Given the description of an element on the screen output the (x, y) to click on. 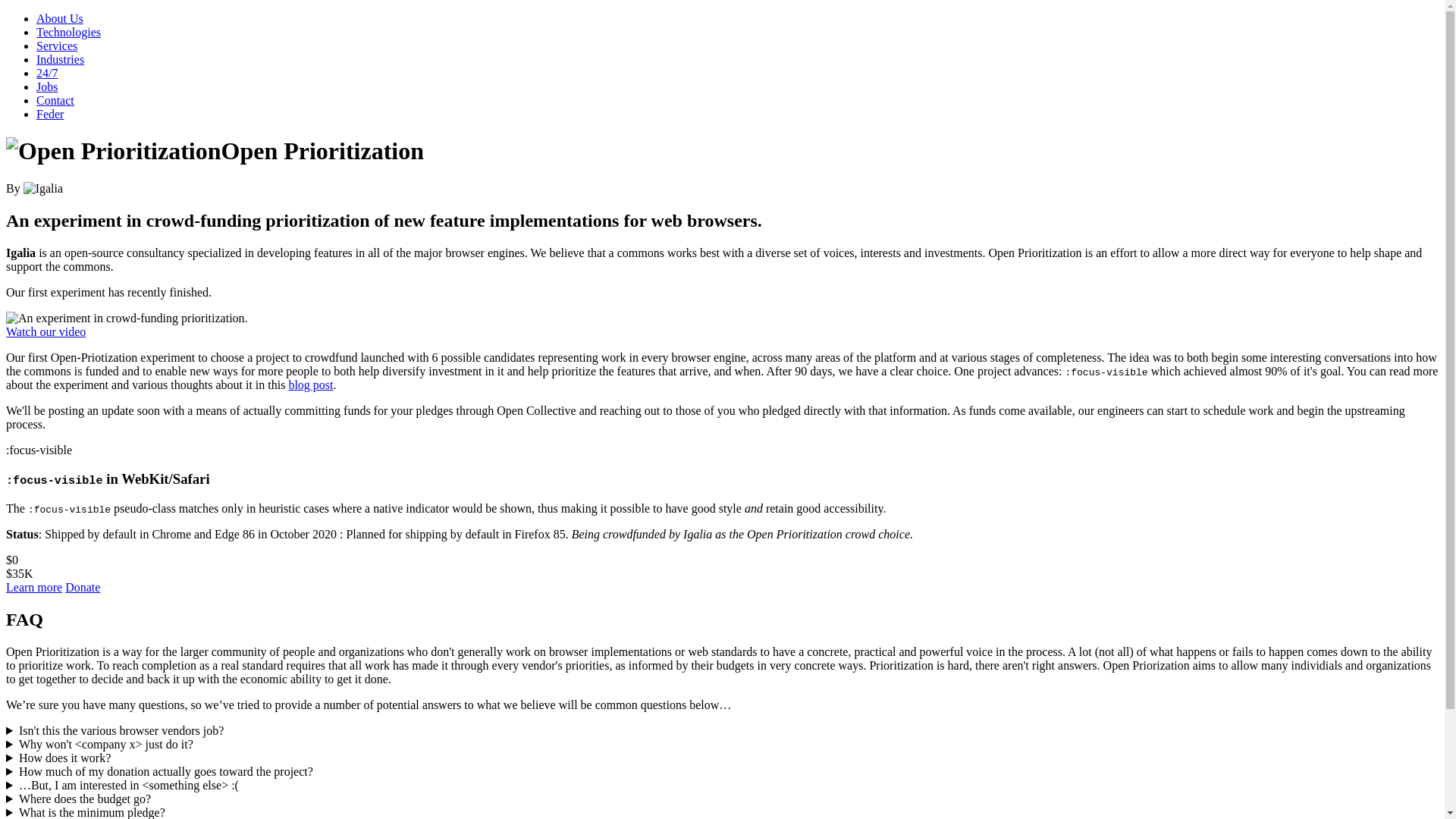
blog post (310, 384)
Industries (60, 59)
About Us (59, 18)
Technologies (68, 31)
Jobs (47, 86)
Donate (82, 586)
Industries (60, 59)
Learn more (33, 586)
About Us (59, 18)
Feder (50, 113)
Contact (55, 100)
Technologies (68, 31)
Watch our video (45, 331)
Jobs (47, 86)
Services (56, 45)
